Given the description of an element on the screen output the (x, y) to click on. 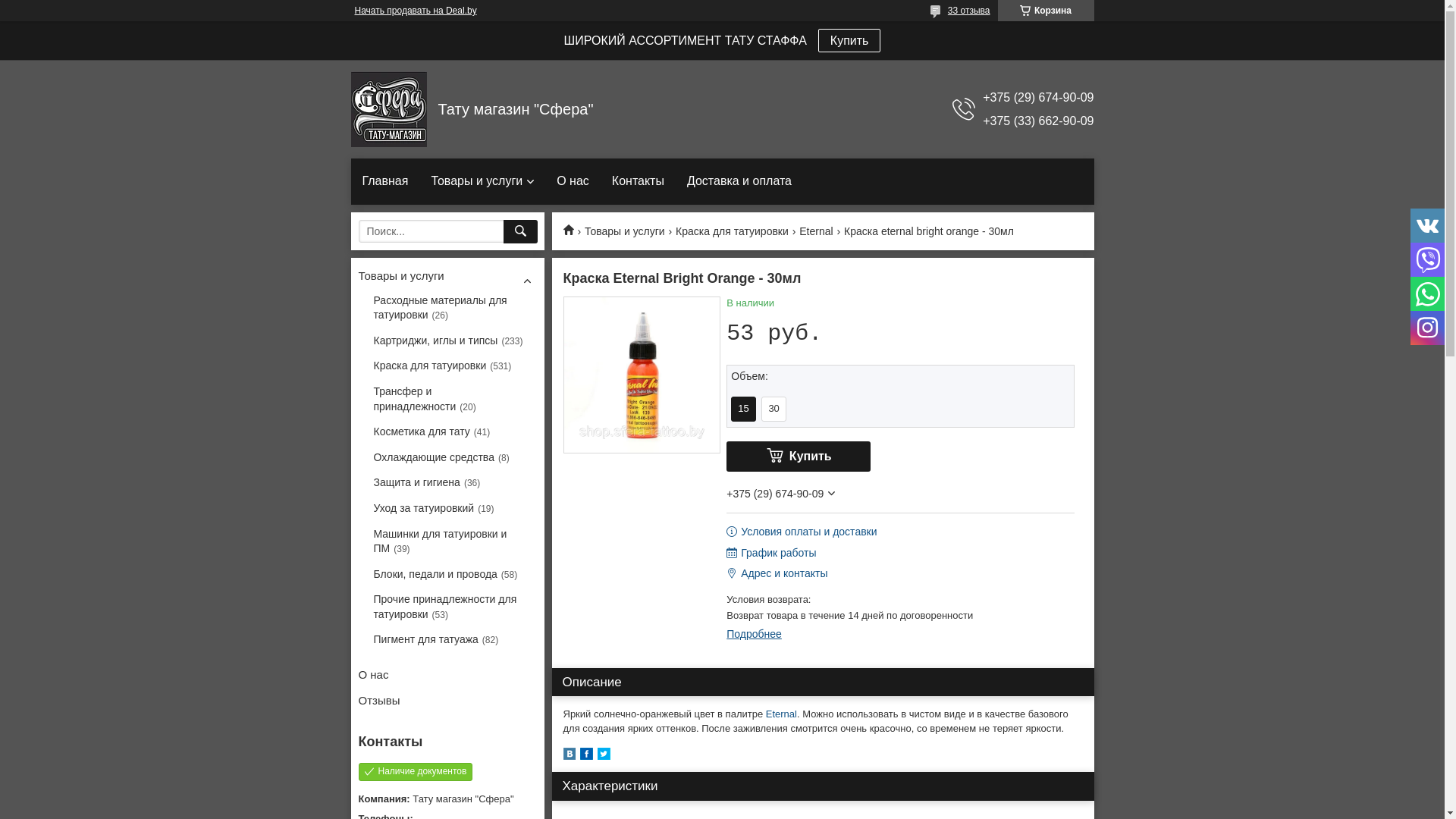
facebook Element type: hover (585, 756)
Eternal Element type: text (815, 231)
Eternal Element type: text (781, 713)
twitter Element type: hover (603, 756)
